Given the description of an element on the screen output the (x, y) to click on. 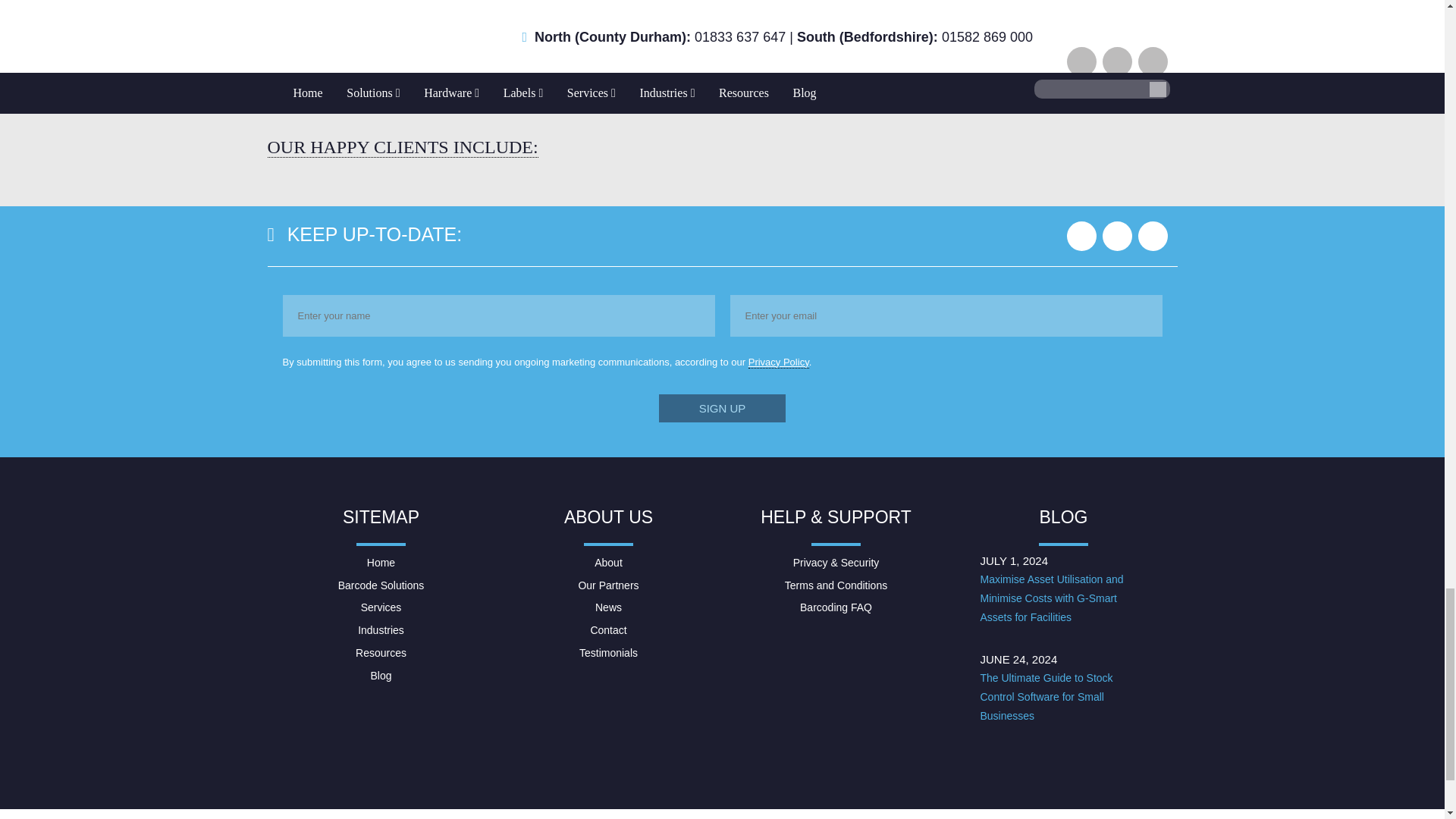
sign up (722, 407)
